Given the description of an element on the screen output the (x, y) to click on. 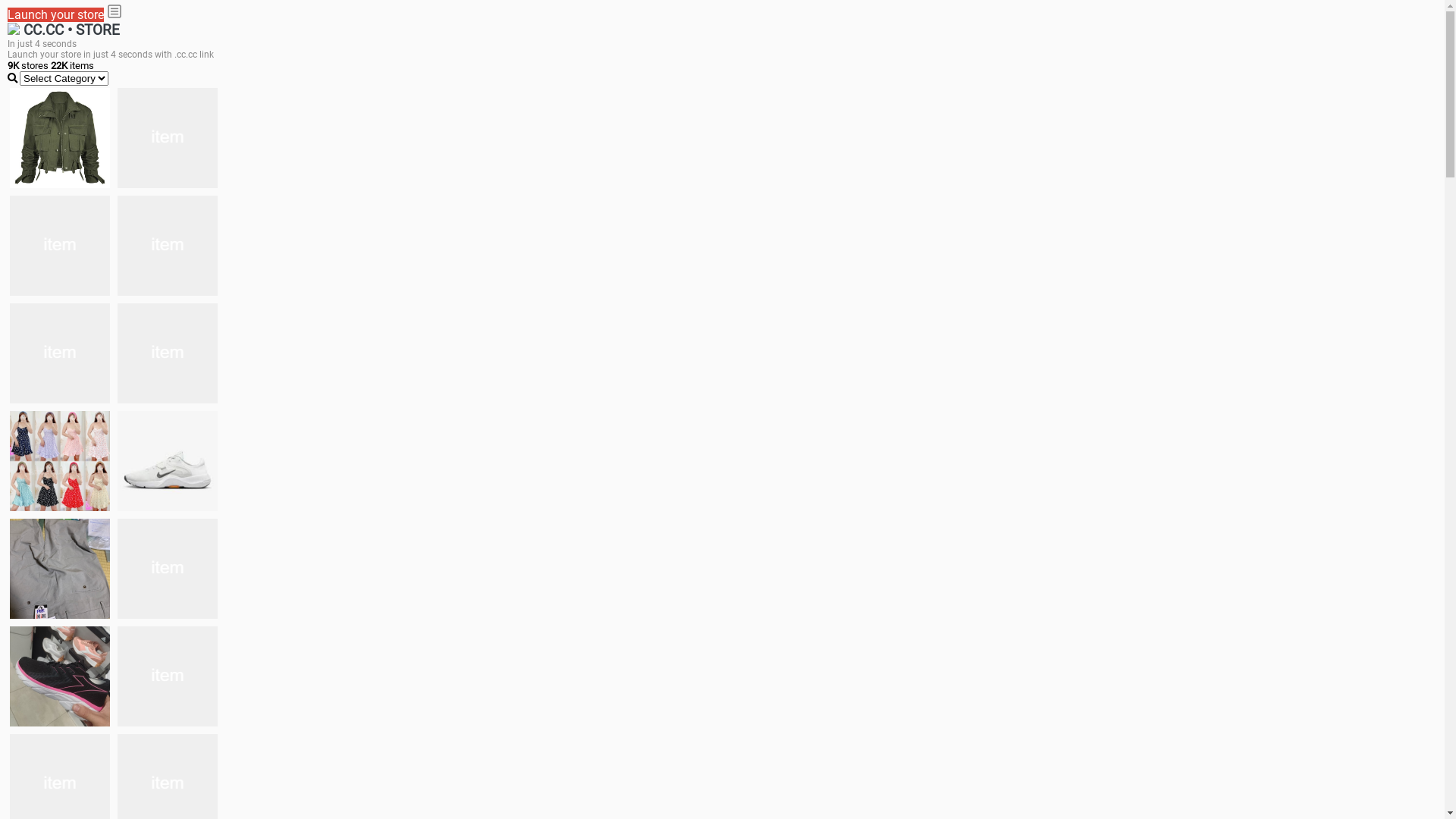
Launch your store Element type: text (55, 14)
jacket Element type: hover (59, 137)
Zapatillas Element type: hover (59, 676)
white shoes Element type: hover (167, 137)
Dress/square nect top Element type: hover (59, 461)
Zapatillas pumas Element type: hover (167, 568)
shoes for boys Element type: hover (59, 245)
Short pant Element type: hover (167, 676)
Ukay cloth Element type: hover (167, 353)
Shoes Element type: hover (167, 461)
Shoes for boys Element type: hover (167, 245)
Things we need Element type: hover (59, 353)
